Given the description of an element on the screen output the (x, y) to click on. 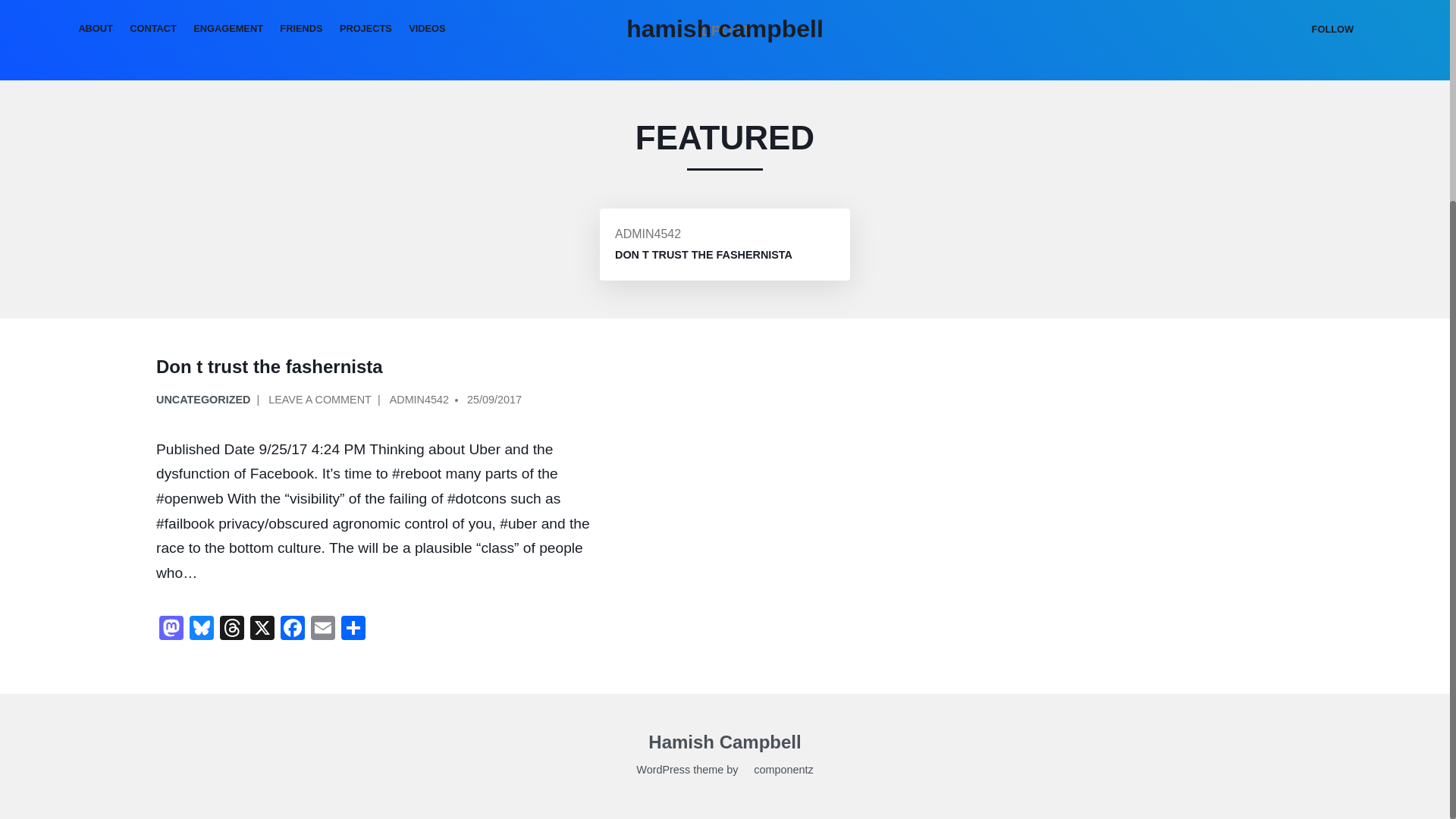
Hamish Campbell (723, 744)
Threads (231, 629)
Mastodon (170, 629)
componentz (776, 771)
Don t trust the fashernista (703, 254)
WordPress (663, 771)
Email (322, 629)
Bluesky (201, 629)
Facebook (292, 629)
X (262, 629)
